Given the description of an element on the screen output the (x, y) to click on. 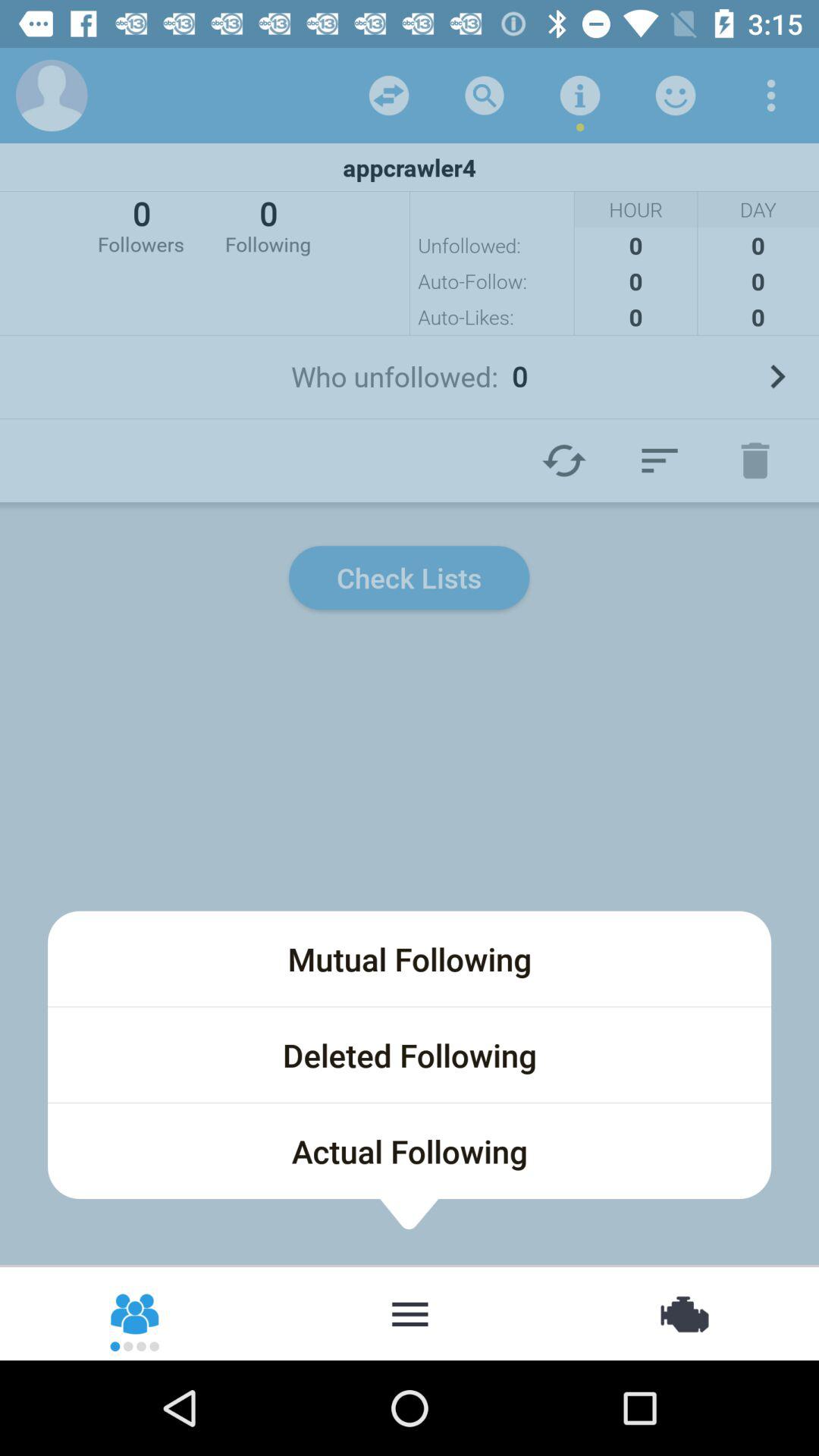
more options (771, 95)
